Given the description of an element on the screen output the (x, y) to click on. 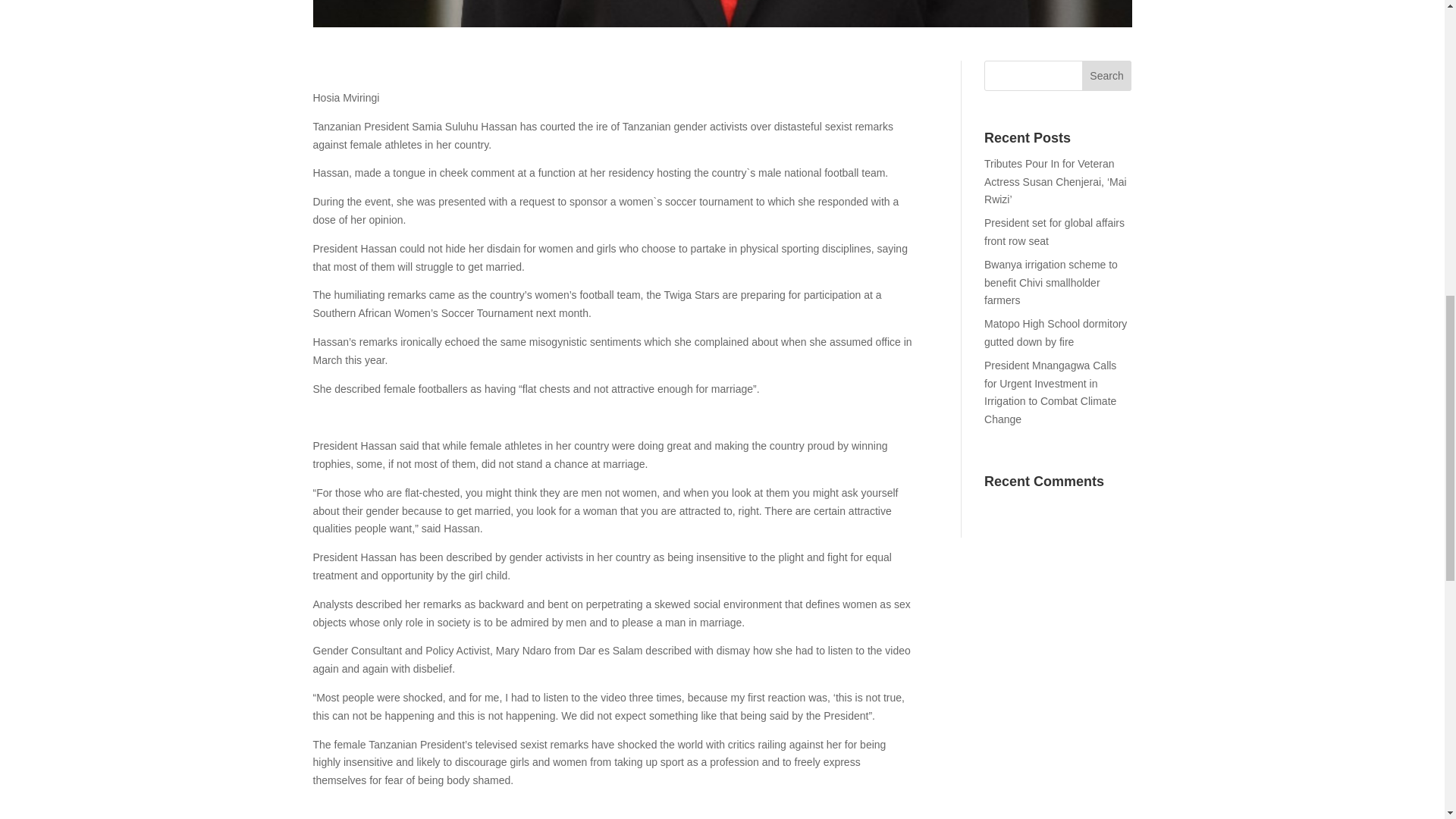
TanzaniaSaminew (722, 13)
Search (1106, 75)
